Given the description of an element on the screen output the (x, y) to click on. 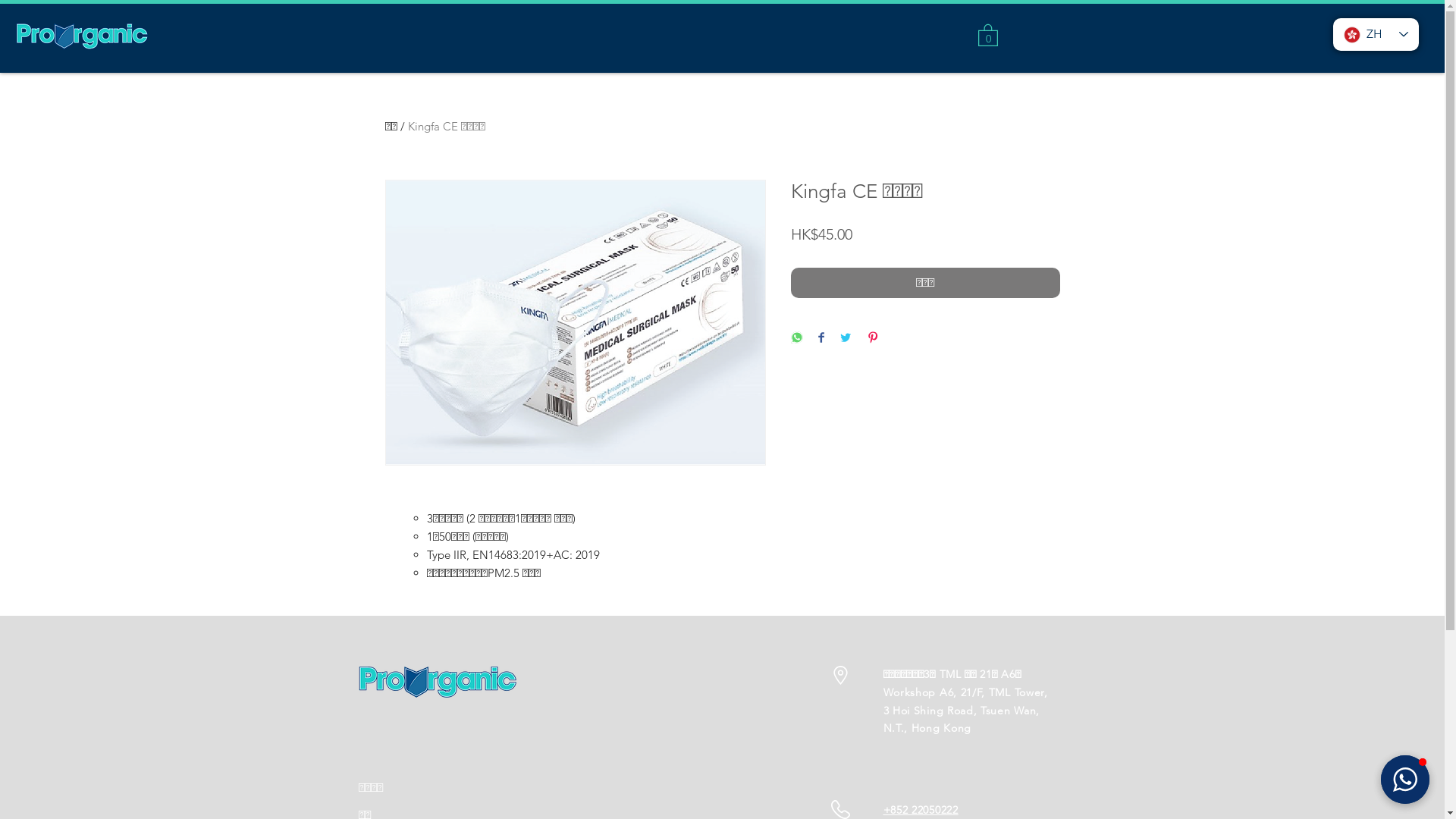
0 Element type: text (987, 34)
+852 22050222 Element type: text (919, 809)
